Given the description of an element on the screen output the (x, y) to click on. 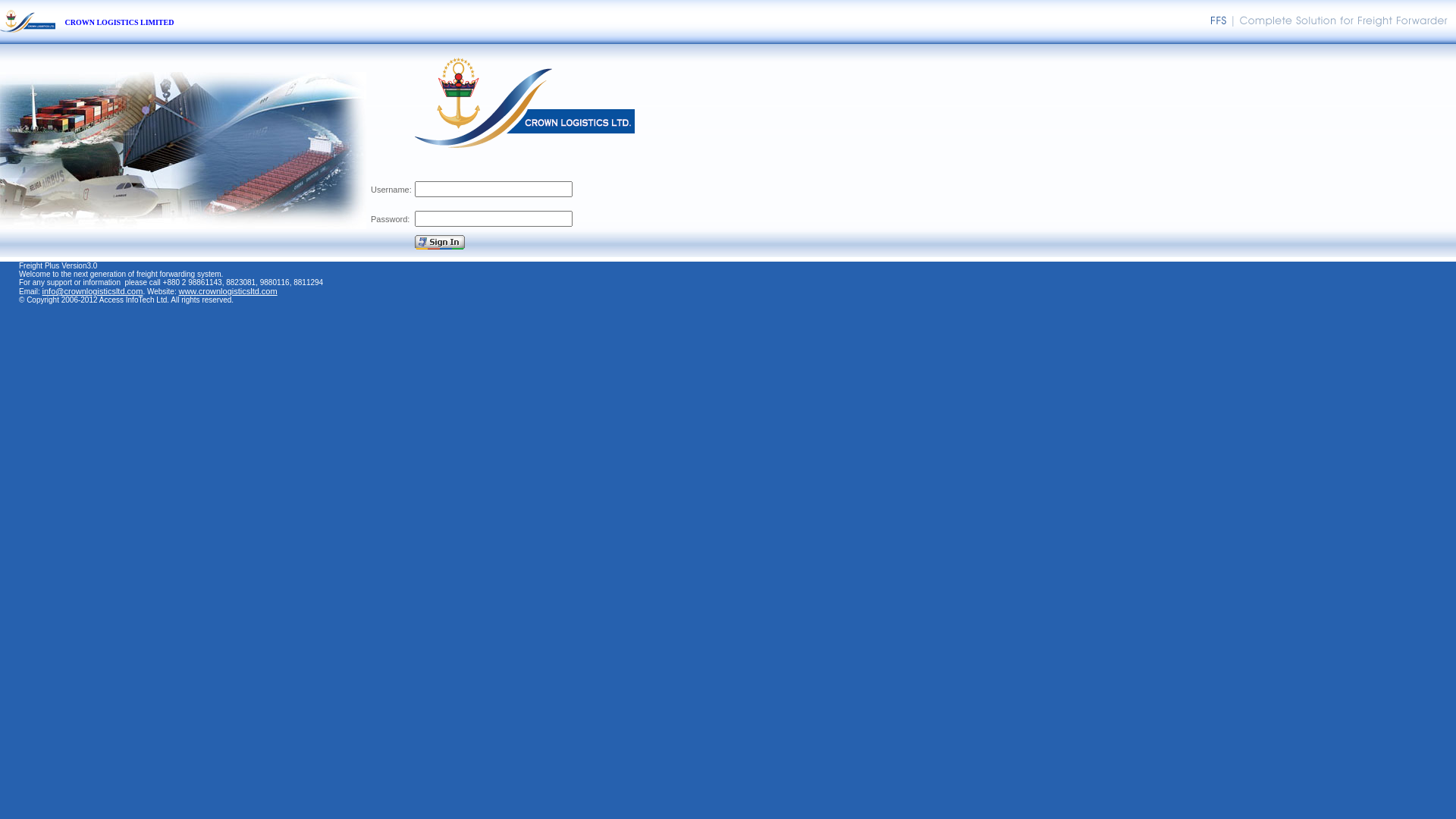
www.crownlogisticsltd.com Element type: text (227, 290)
info@crownlogisticsltd.com Element type: text (92, 290)
